Given the description of an element on the screen output the (x, y) to click on. 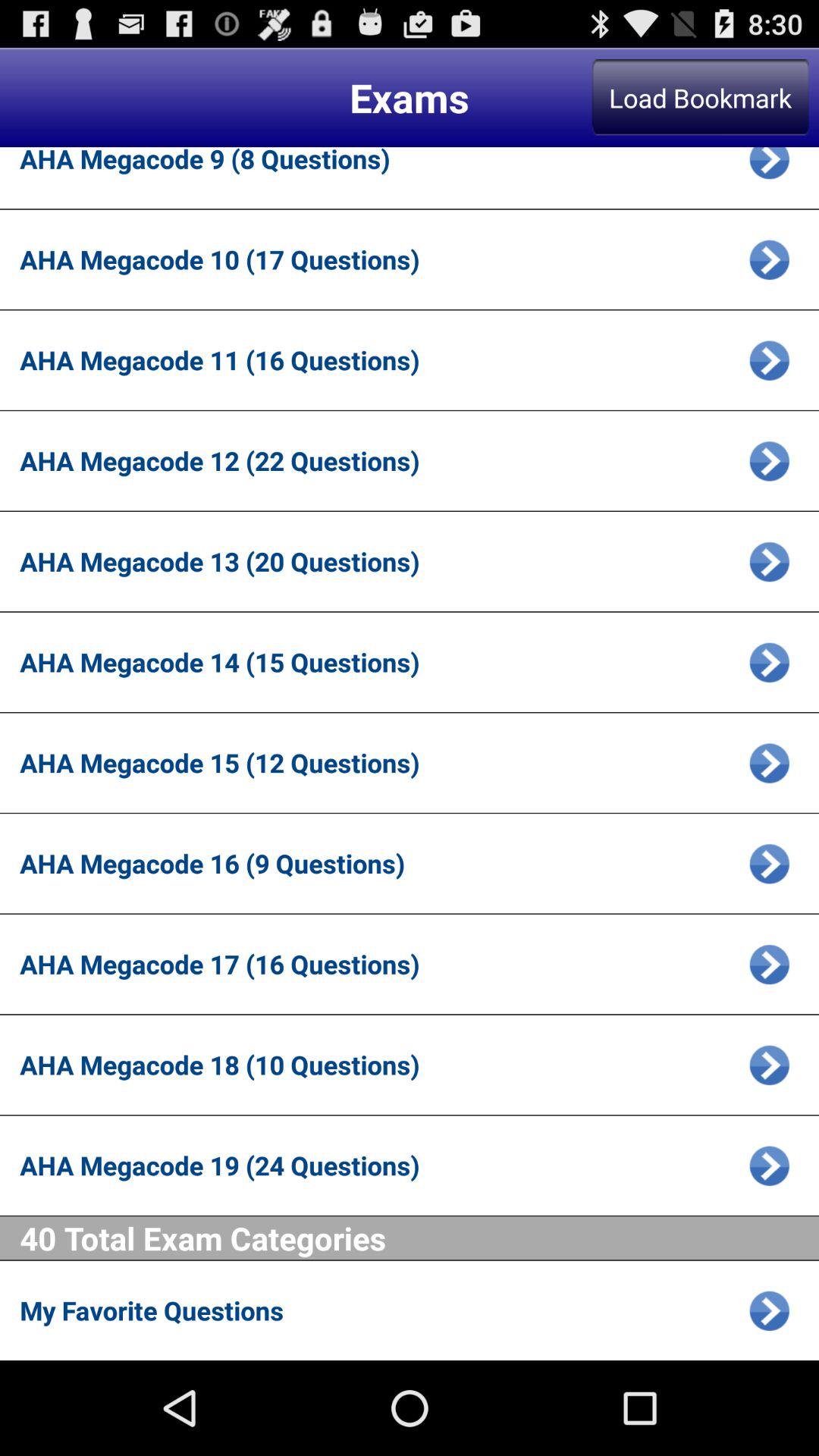
expand on topic (769, 863)
